Given the description of an element on the screen output the (x, y) to click on. 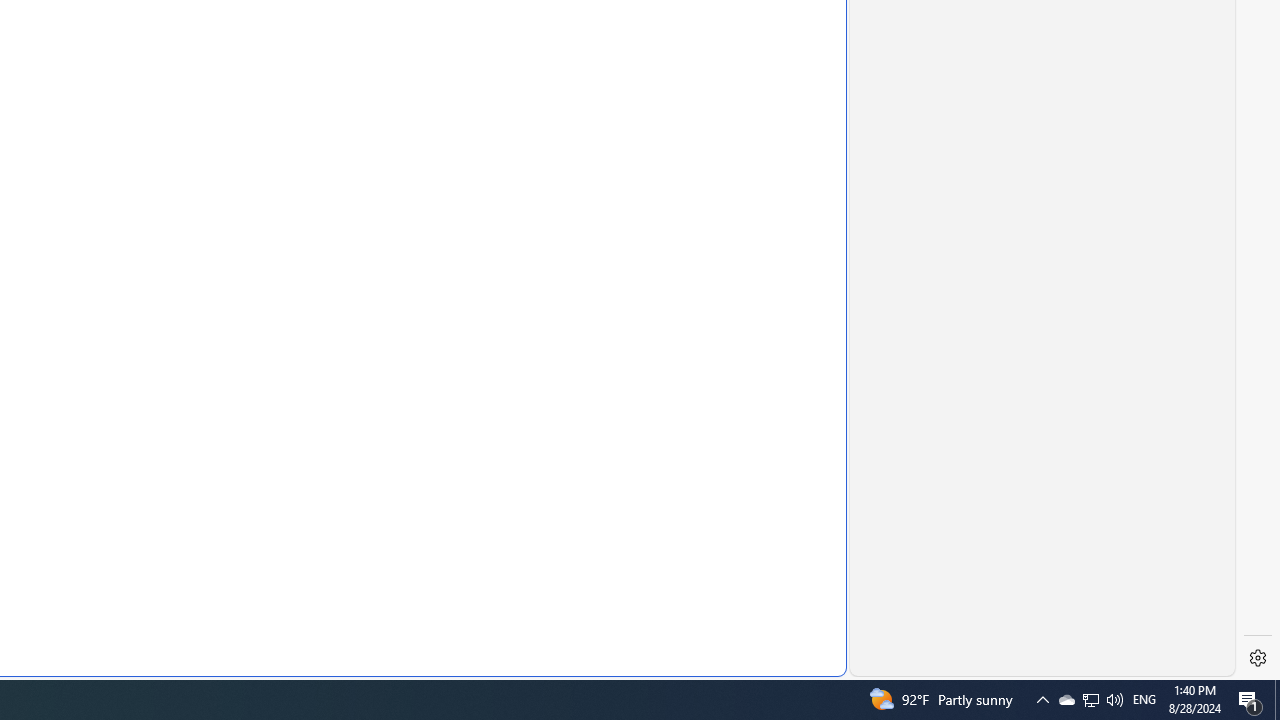
Settings (1258, 658)
